Given the description of an element on the screen output the (x, y) to click on. 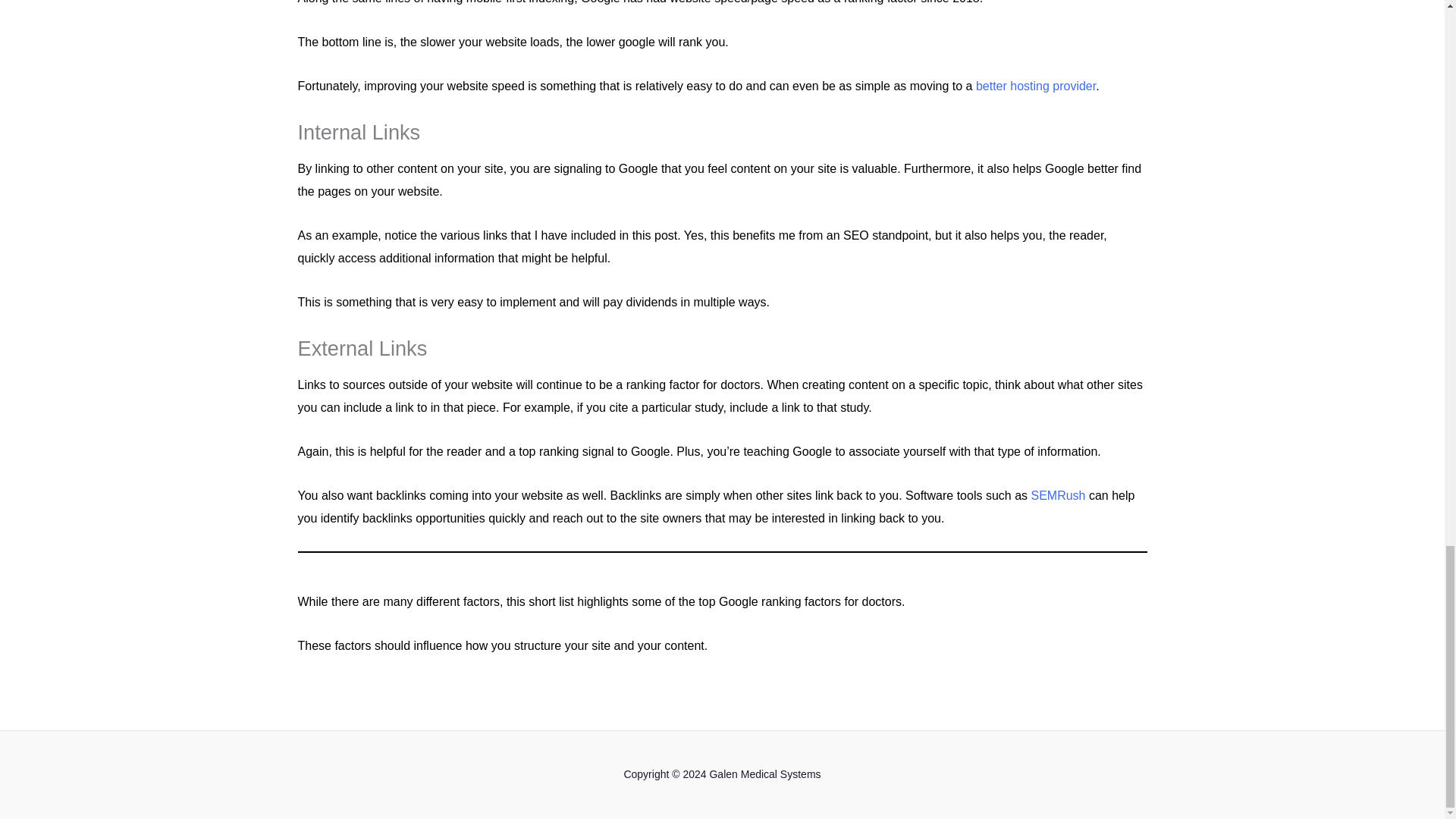
SEMRush (1057, 495)
better hosting provider (1035, 85)
